Given the description of an element on the screen output the (x, y) to click on. 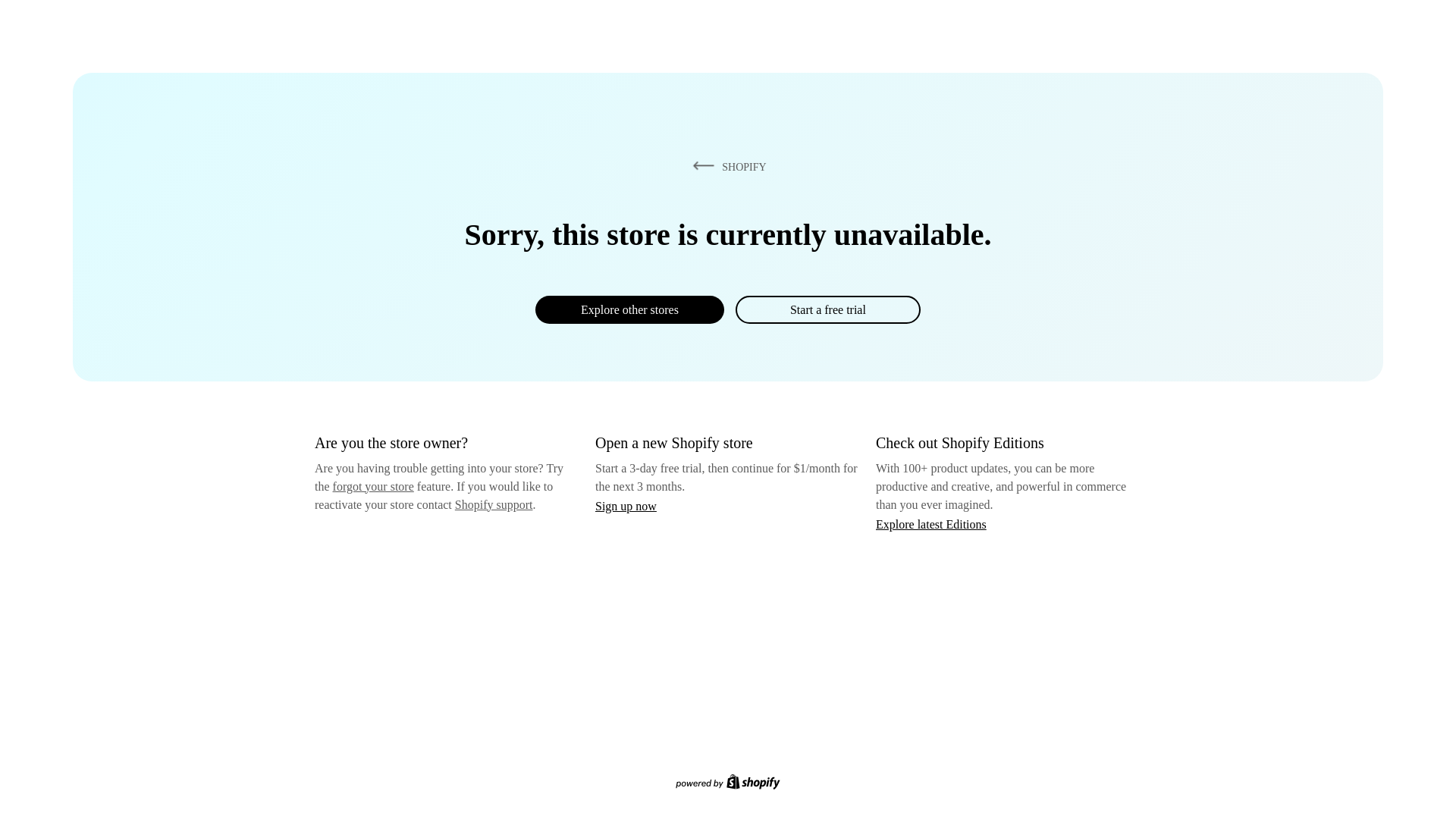
Explore latest Editions (931, 523)
Sign up now (625, 505)
SHOPIFY (726, 166)
Shopify support (493, 504)
Explore other stores (629, 309)
Start a free trial (827, 309)
forgot your store (373, 486)
